Given the description of an element on the screen output the (x, y) to click on. 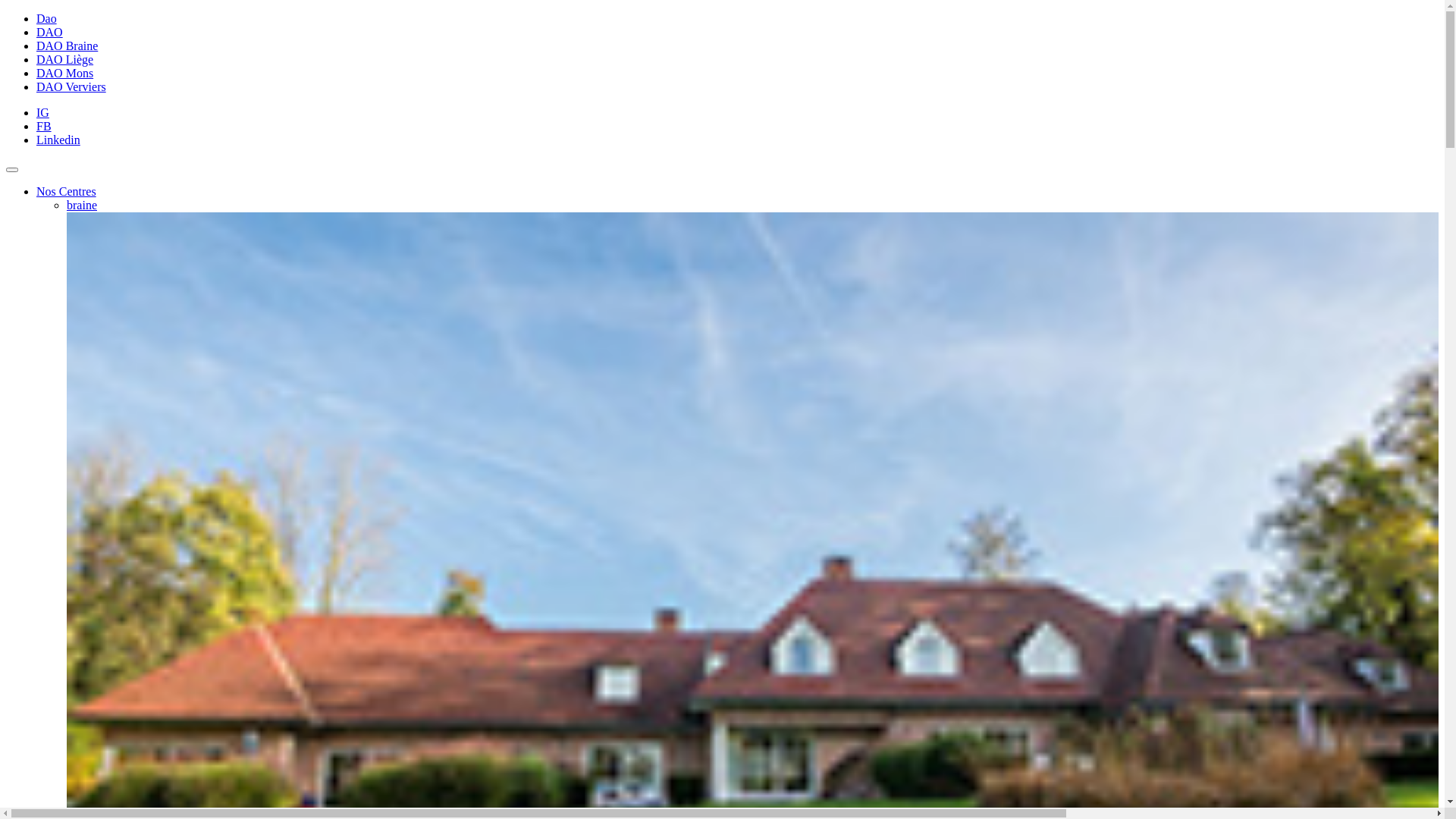
Dao Element type: text (46, 18)
DAO Braine Element type: text (66, 45)
DAO Mons Element type: text (64, 72)
DAO Verviers Element type: text (71, 86)
Linkedin Element type: text (58, 139)
DAO Element type: text (49, 31)
IG Element type: text (42, 112)
braine Element type: text (81, 204)
FB Element type: text (43, 125)
Nos Centres Element type: text (66, 191)
